Given the description of an element on the screen output the (x, y) to click on. 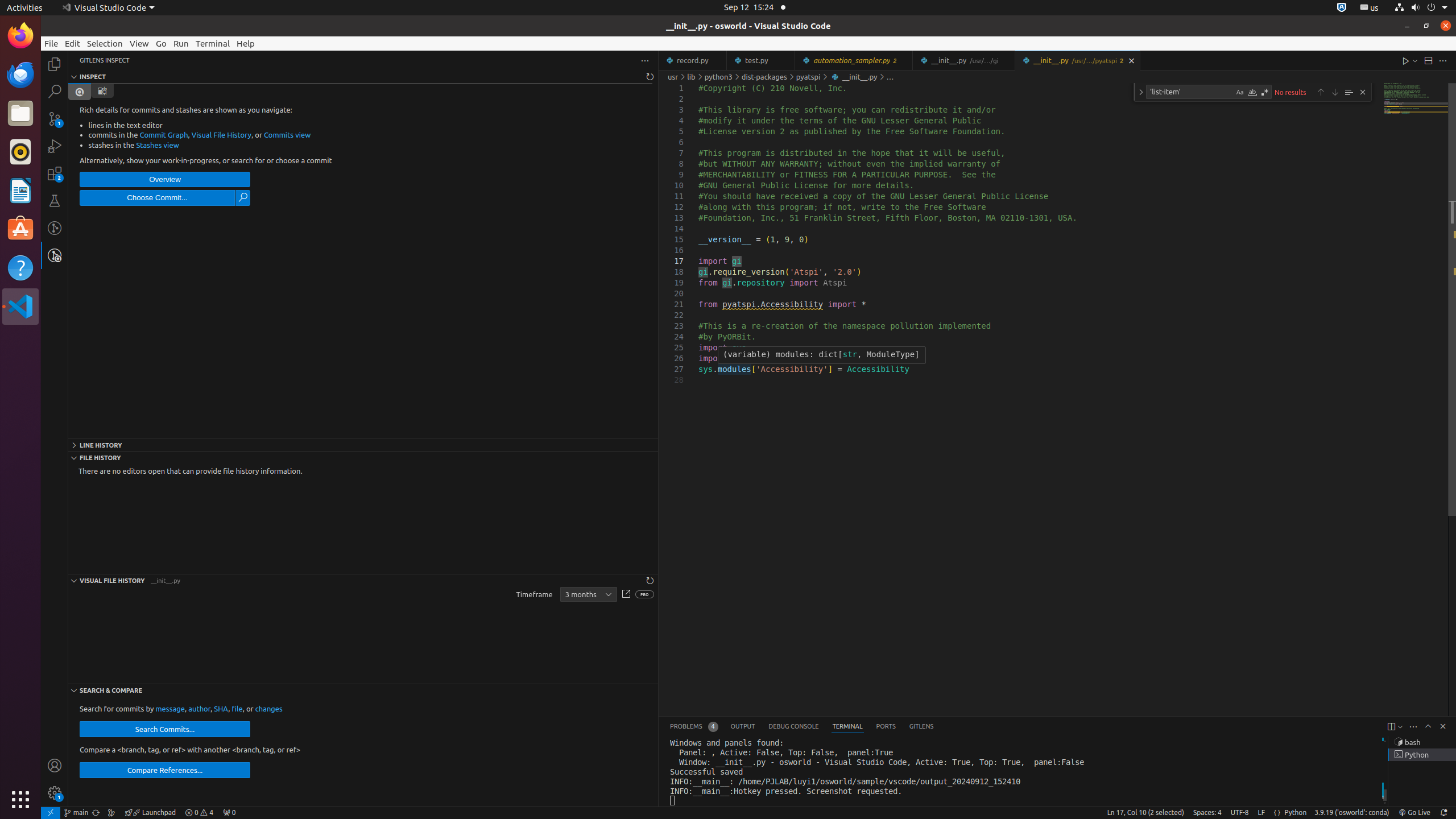
Choose Commit... Element type: push-button (157, 197)
message Element type: push-button (169, 708)
GitLens Element type: page-tab (921, 726)
UTF-8 Element type: push-button (1239, 812)
Maximize Panel Size Element type: check-box (1427, 726)
